Given the description of an element on the screen output the (x, y) to click on. 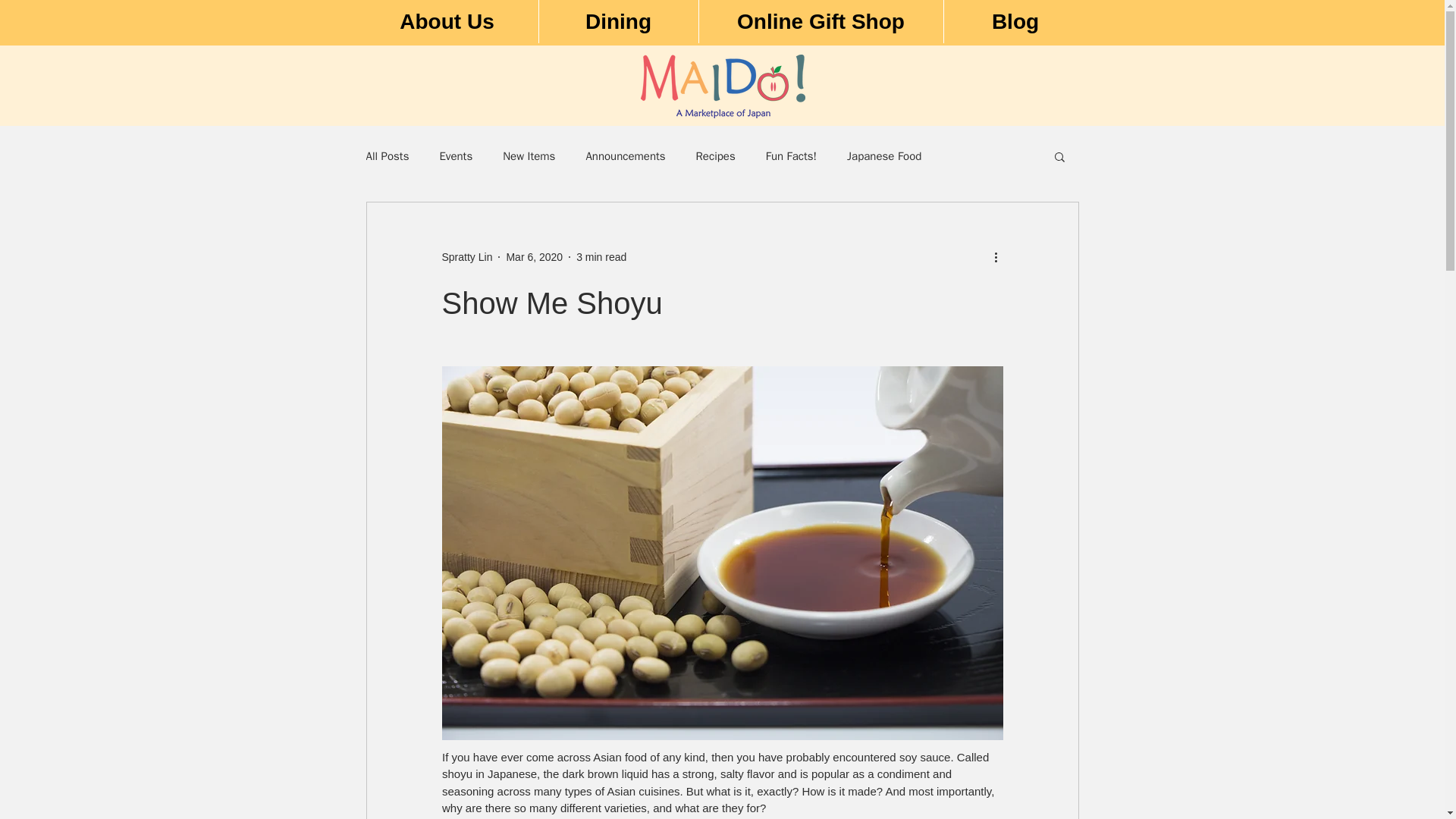
Fun Facts! (790, 155)
Mar 6, 2020 (533, 256)
All Posts (387, 155)
Japanese Food (884, 155)
3 min read (601, 256)
About Us (447, 21)
Announcements (625, 155)
Online Gift Shop (819, 21)
Blog (1015, 21)
Spratty Lin (466, 256)
Spratty Lin (466, 256)
Events (455, 155)
New Items (528, 155)
Dining (618, 21)
Recipes (715, 155)
